Given the description of an element on the screen output the (x, y) to click on. 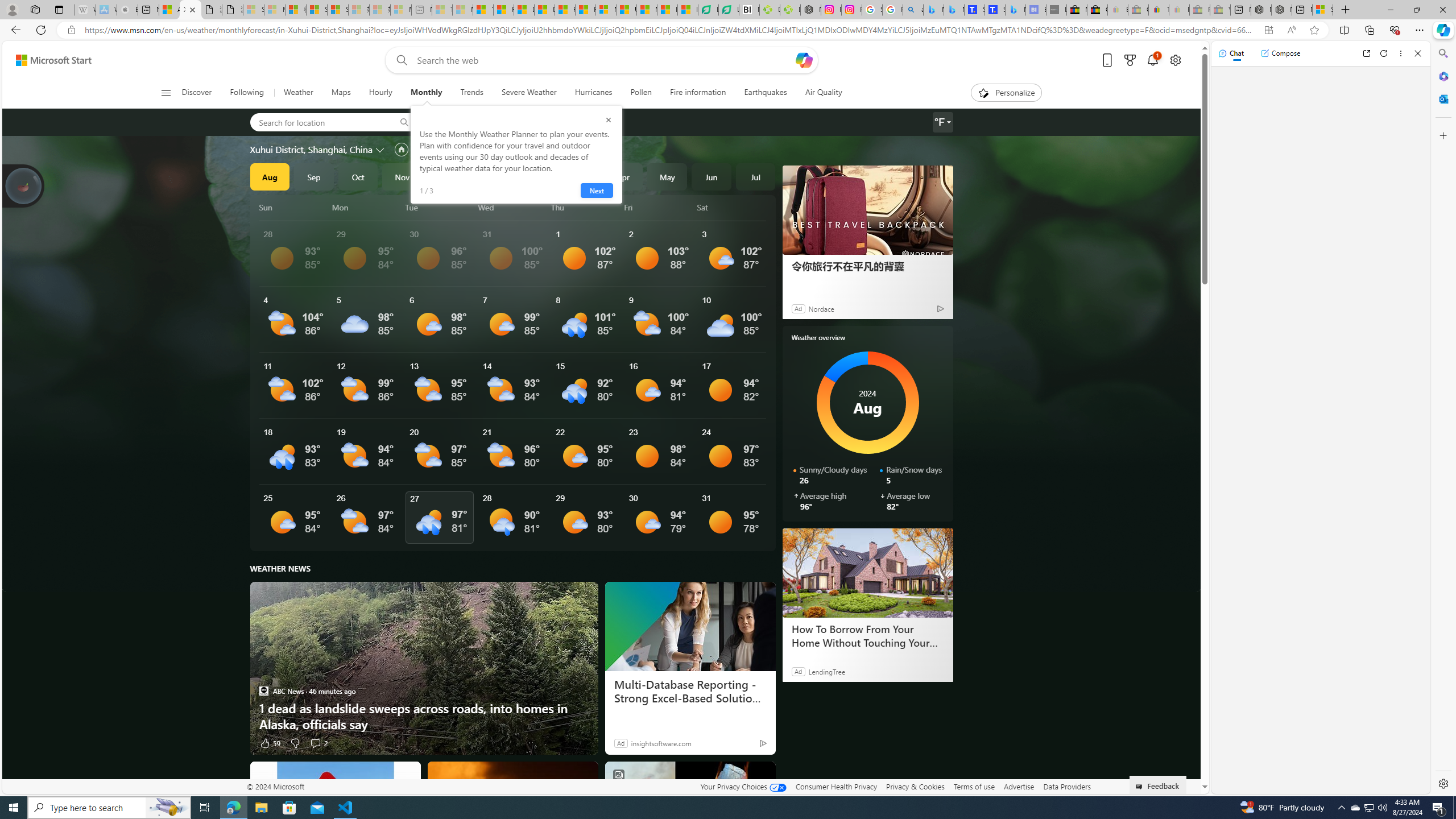
Nvidia va a poner a prueba la paciencia de los inversores (748, 9)
Microsoft Services Agreement - Sleeping (274, 9)
Food and Drink - MSN (503, 9)
Sep (313, 176)
